Given the description of an element on the screen output the (x, y) to click on. 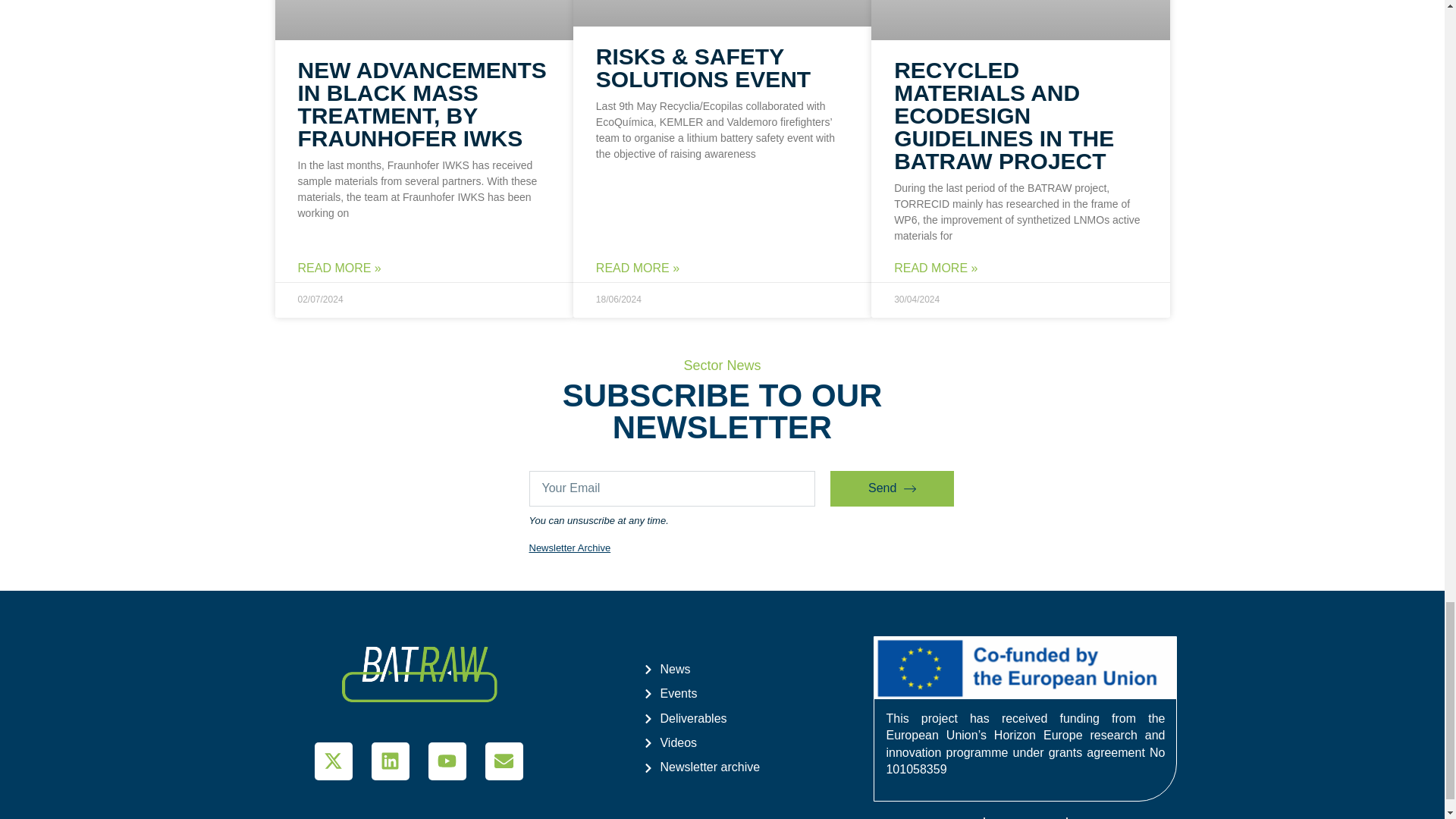
NEW ADVANCEMENTS IN BLACK MASS TREATMENT, BY FRAUNHOFER IWKS (421, 103)
Arrow-Icon-Size3 (909, 489)
